Given the description of an element on the screen output the (x, y) to click on. 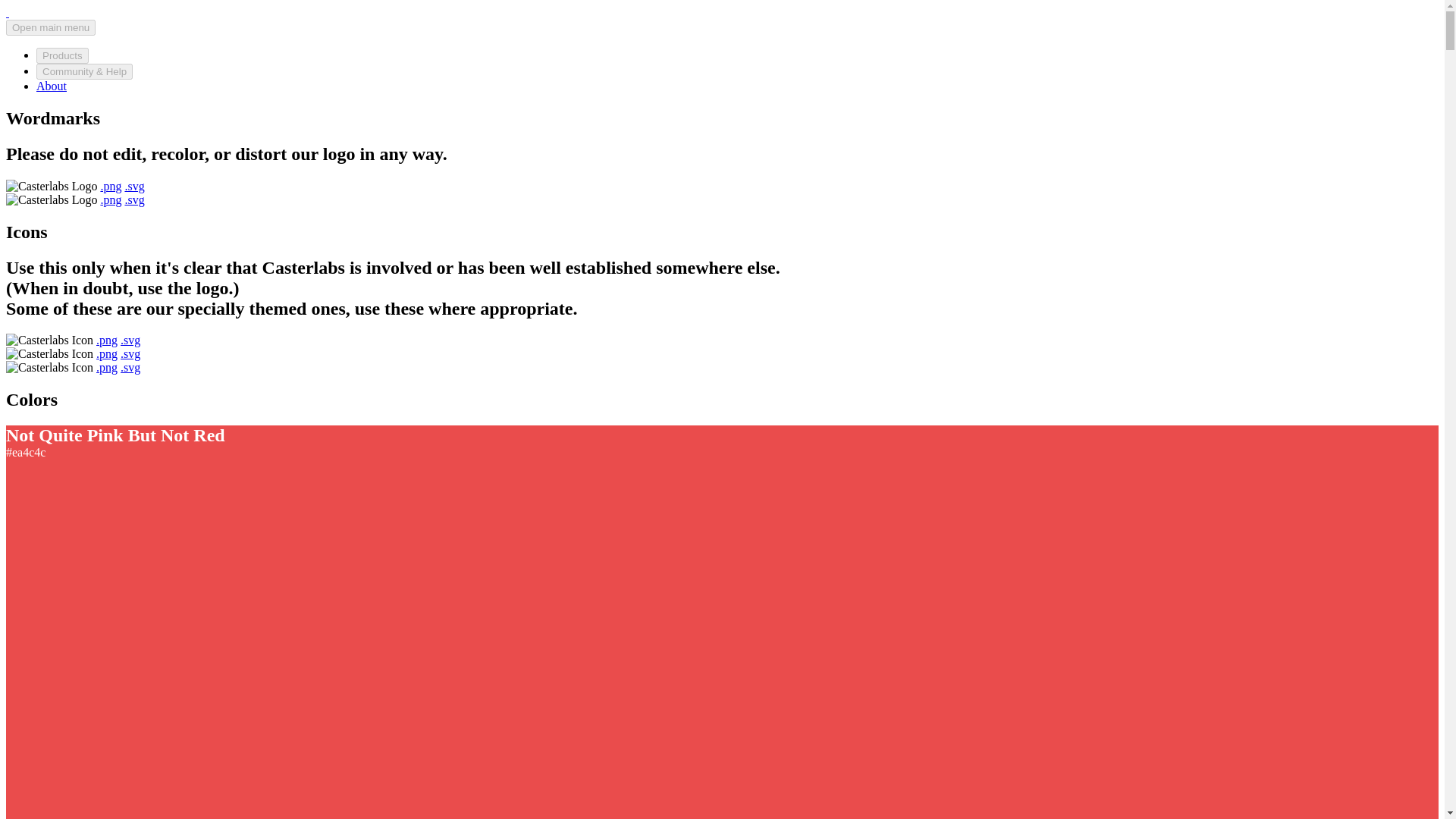
.png (110, 199)
.png (106, 367)
.png (110, 185)
.svg (133, 199)
.svg (129, 353)
.svg (129, 367)
About (51, 85)
Products (62, 55)
.svg (133, 185)
.png (106, 339)
